Given the description of an element on the screen output the (x, y) to click on. 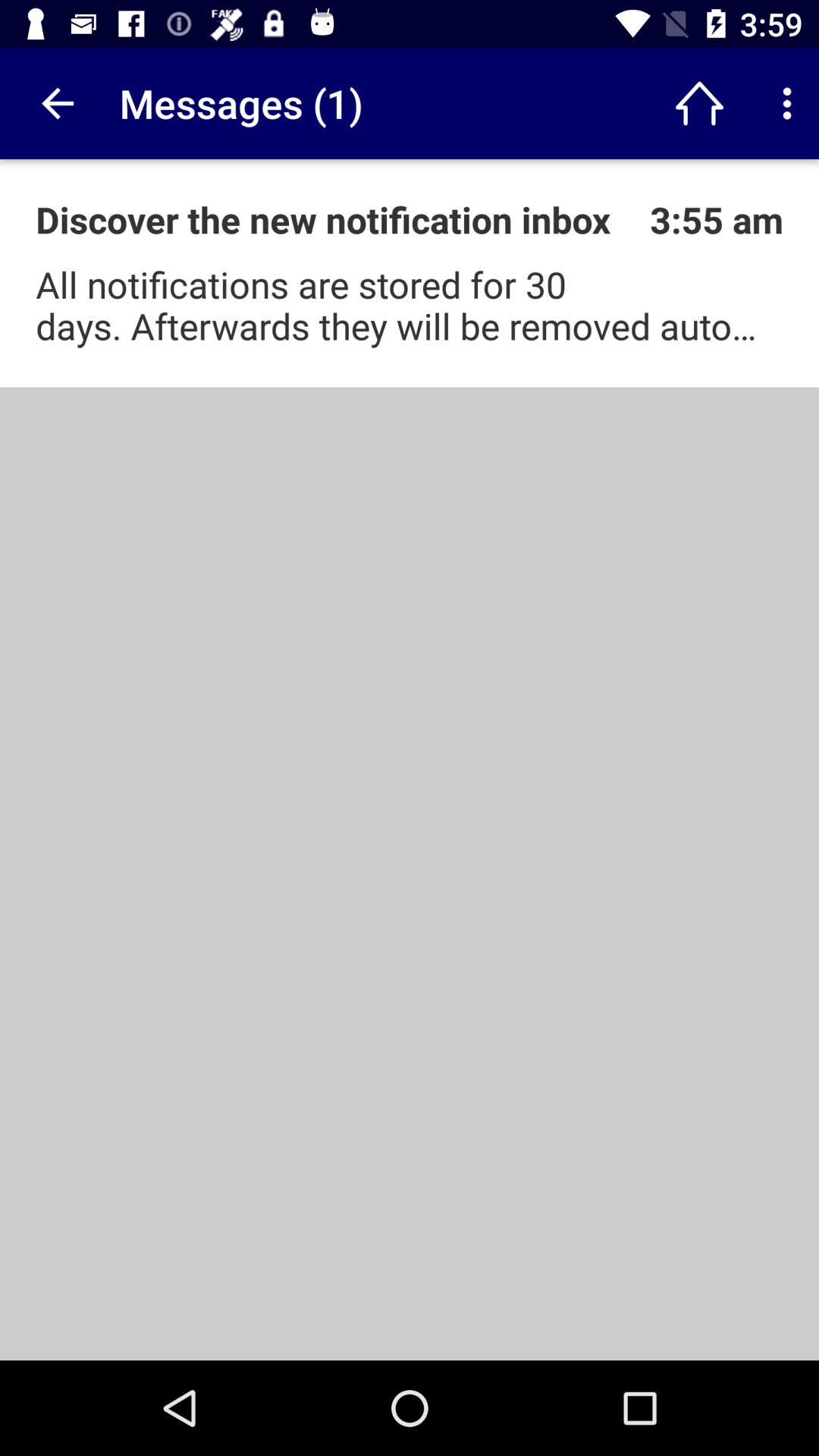
open item above the discover the new (55, 103)
